Given the description of an element on the screen output the (x, y) to click on. 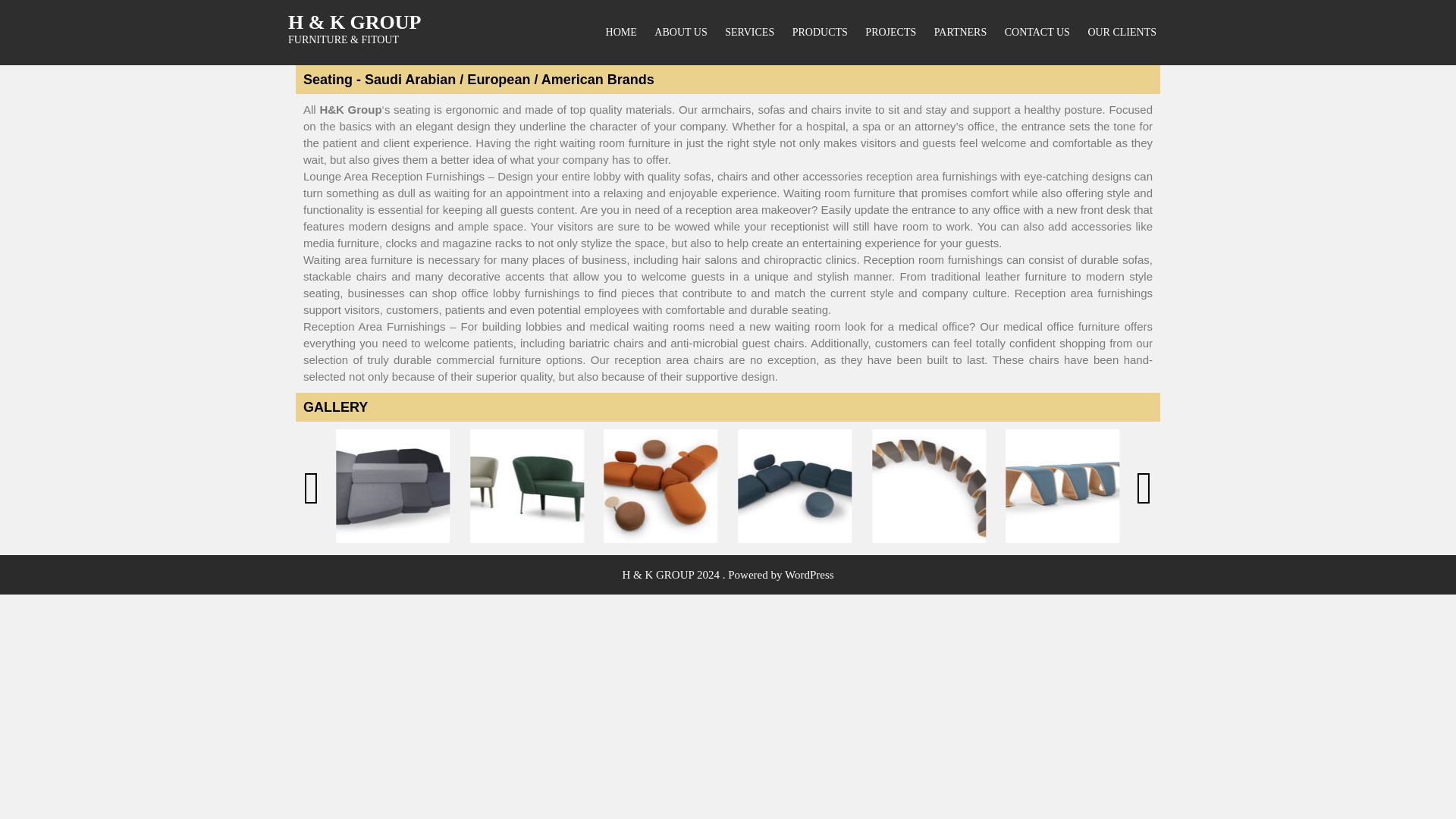
OUR CLIENTS (1121, 32)
CONTACT US (1037, 32)
SERVICES (748, 32)
PROJECTS (890, 32)
PRODUCTS (820, 32)
HOME (621, 32)
ABOUT US (680, 32)
PARTNERS (960, 32)
